Given the description of an element on the screen output the (x, y) to click on. 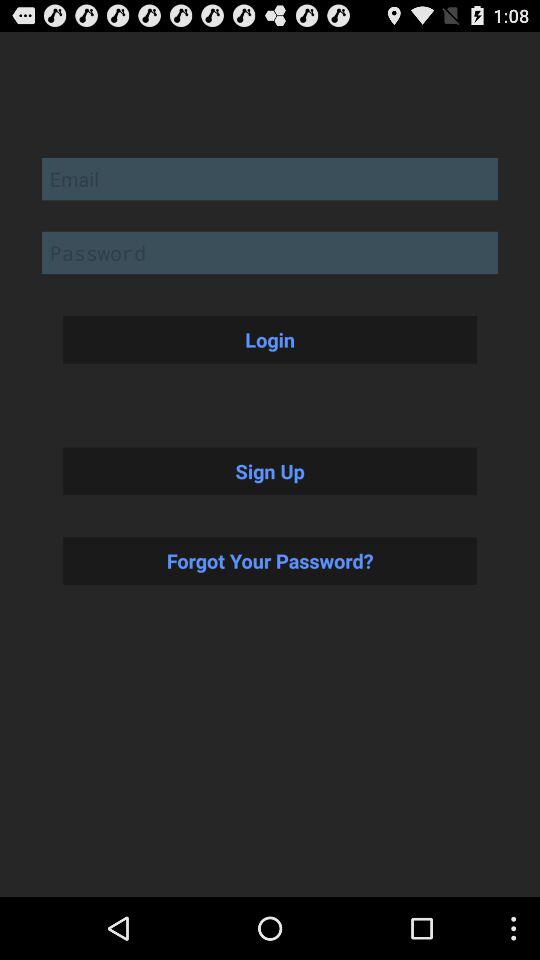
select the login item (269, 339)
